Given the description of an element on the screen output the (x, y) to click on. 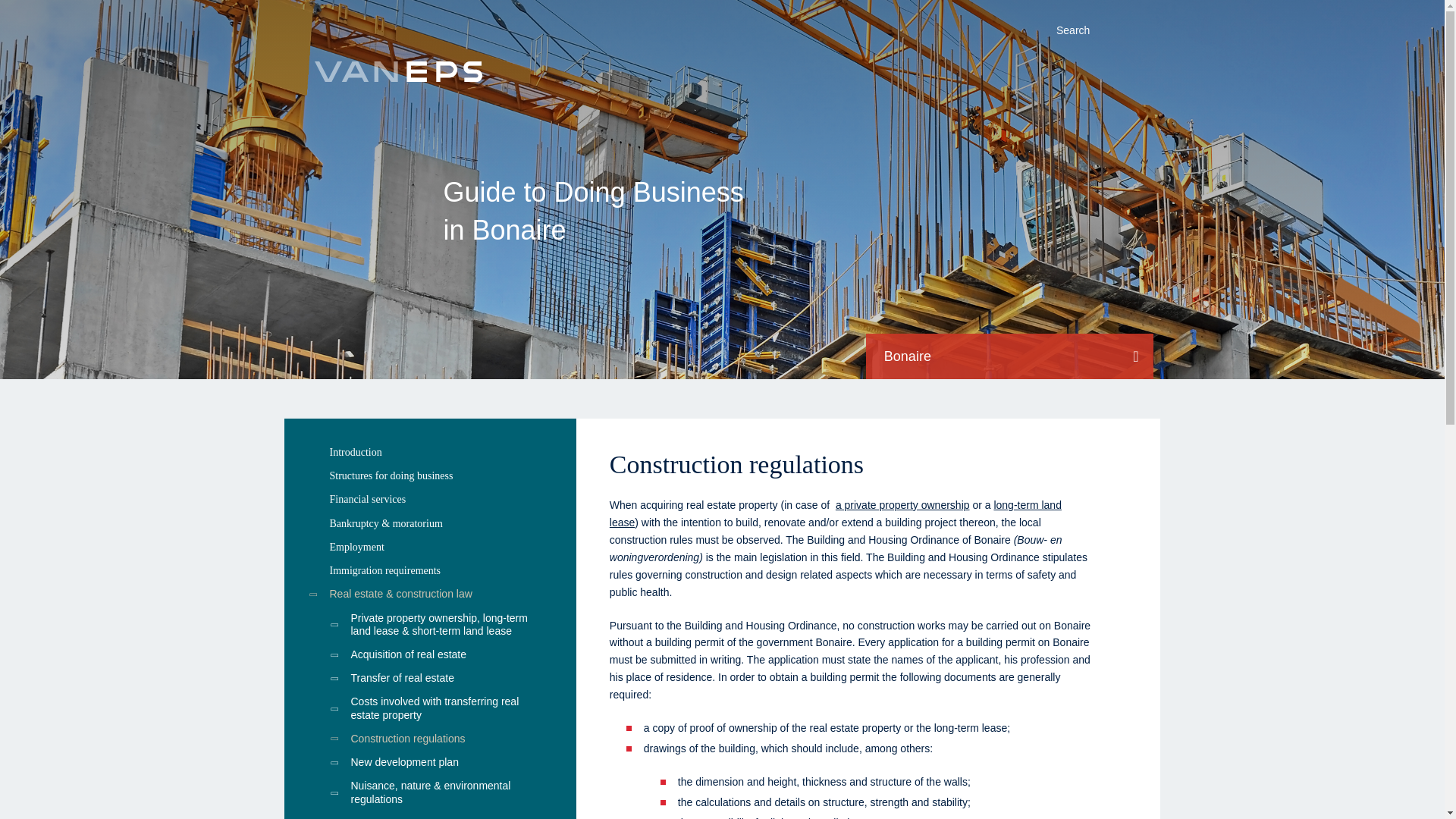
Costs involved with transferring real estate property (429, 708)
Bonaire (1009, 356)
Transfer of real estate (429, 678)
Employment (429, 546)
Guide to doing business (397, 72)
Financial services (429, 499)
Immigration requirements (429, 570)
Structures for doing business (429, 475)
Acquisition of real estate (429, 654)
Introduction (429, 452)
long-term land lease (835, 513)
a private property ownership (902, 504)
New development plan (429, 762)
Construction regulations (429, 739)
